Given the description of an element on the screen output the (x, y) to click on. 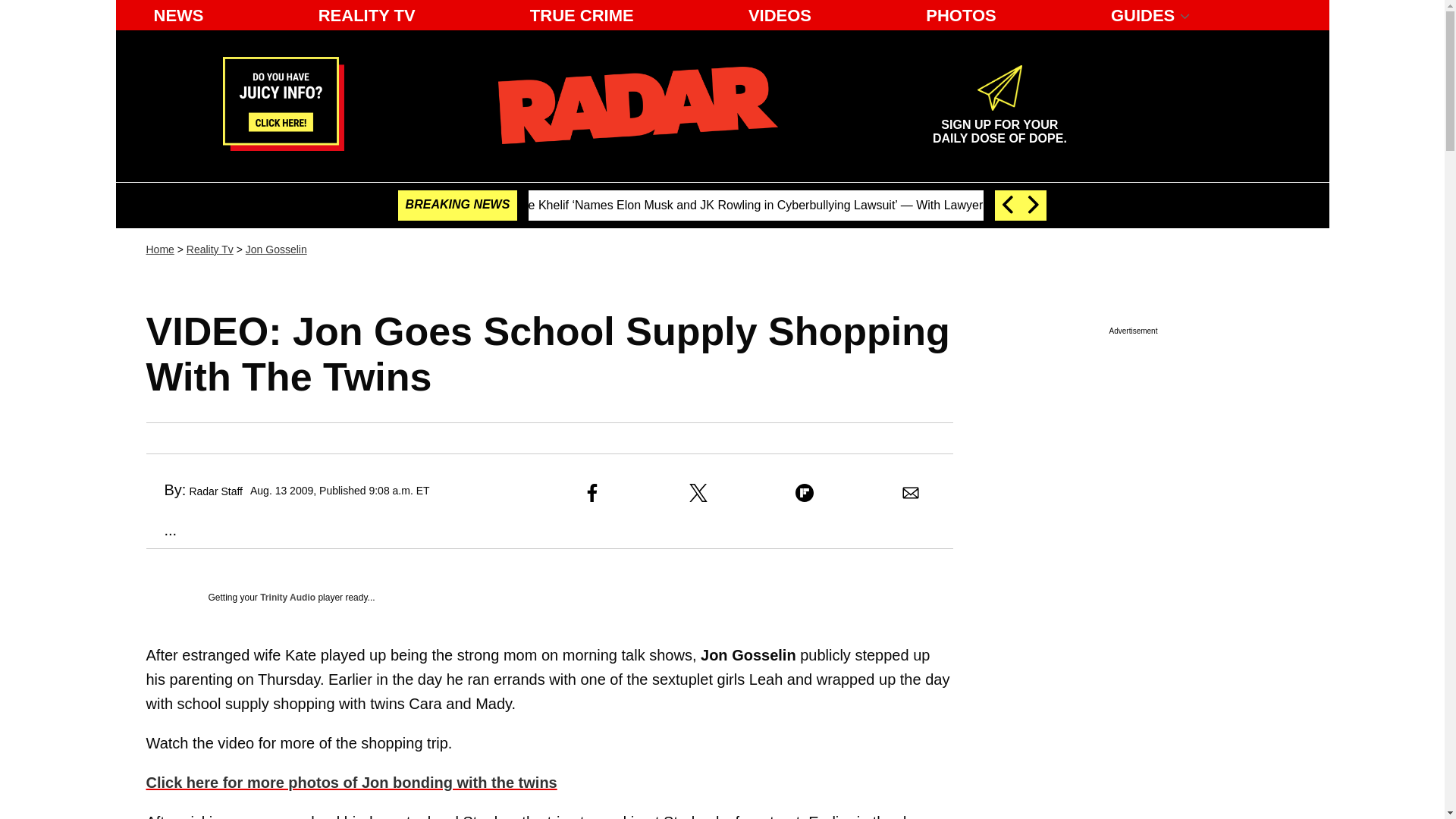
Share to Flipboard (803, 493)
Share to Email (909, 493)
PHOTOS (961, 15)
Radar Staff (216, 491)
Share to X (697, 493)
Trinity Audio (287, 597)
VIDEOS (779, 15)
Email us your tip (282, 146)
Home (159, 249)
Share to Facebook (590, 493)
